Given the description of an element on the screen output the (x, y) to click on. 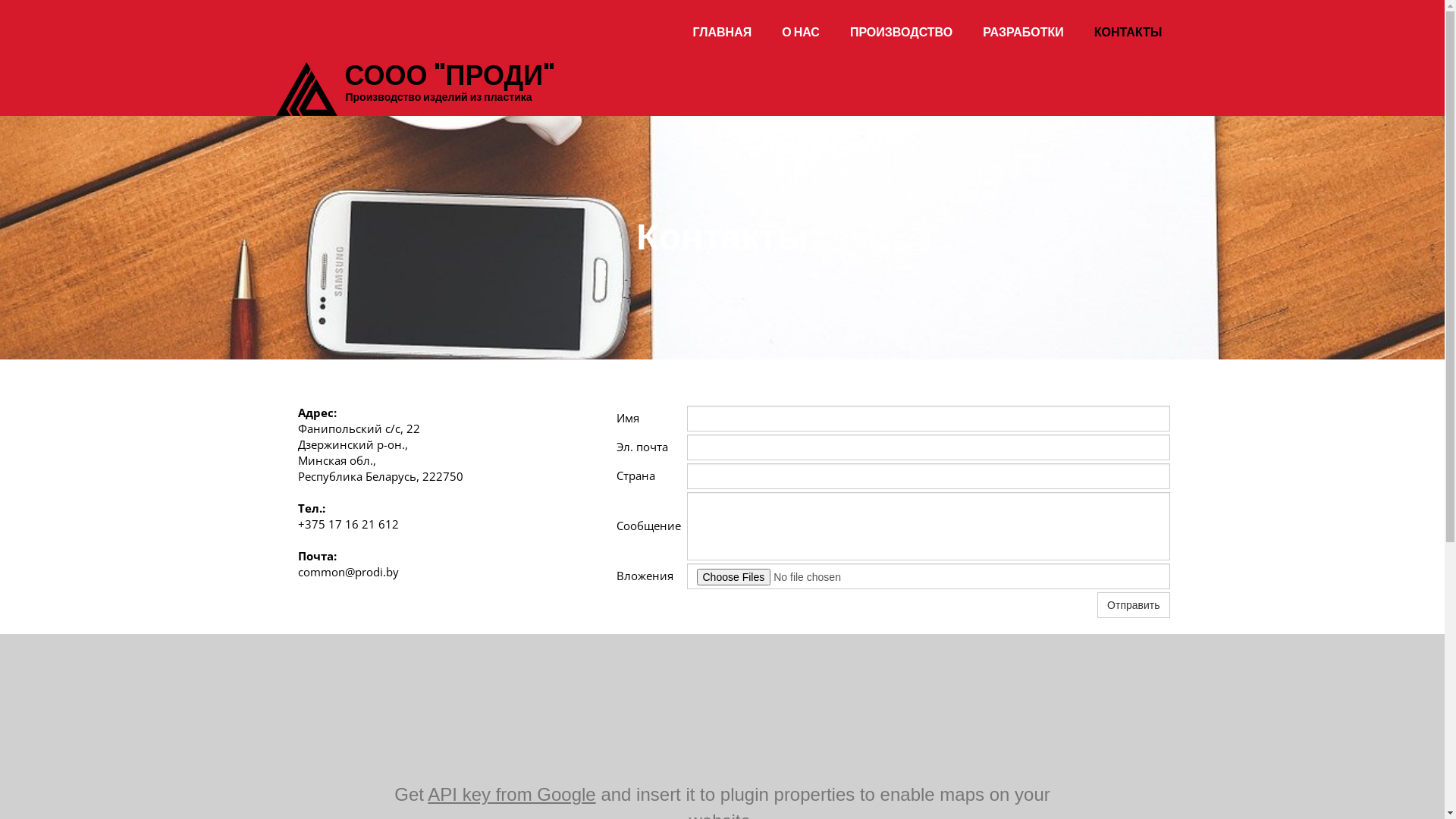
API key from Google Element type: text (511, 794)
